Given the description of an element on the screen output the (x, y) to click on. 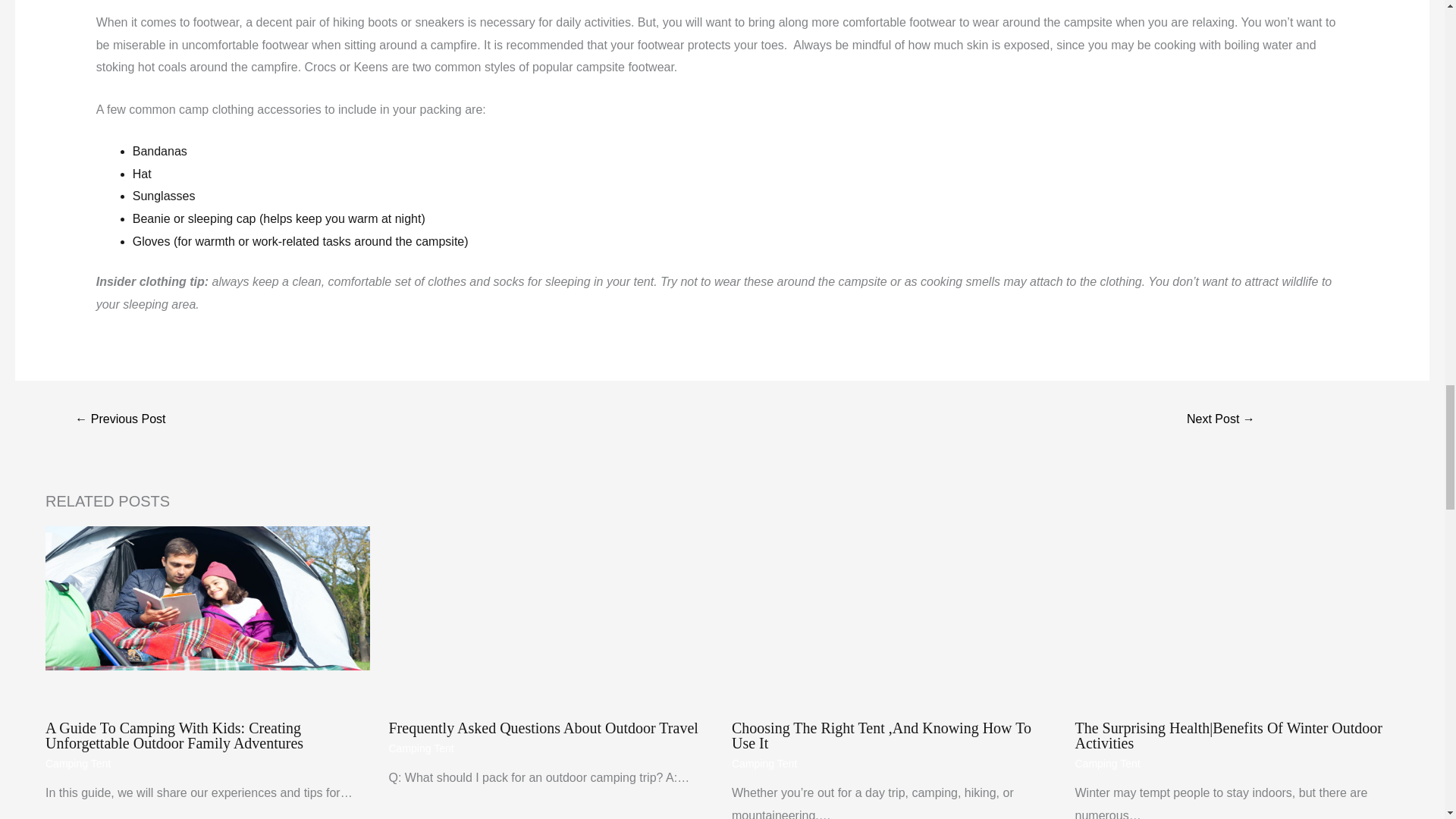
Where and when should I camp? (119, 420)
How to stay dry in the rain while camping (1220, 420)
